Given the description of an element on the screen output the (x, y) to click on. 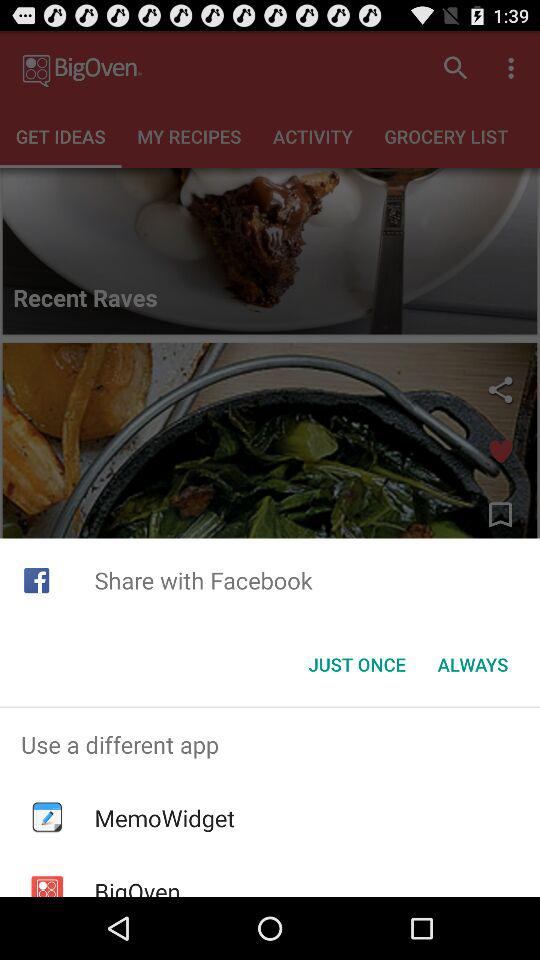
select the always (472, 664)
